Given the description of an element on the screen output the (x, y) to click on. 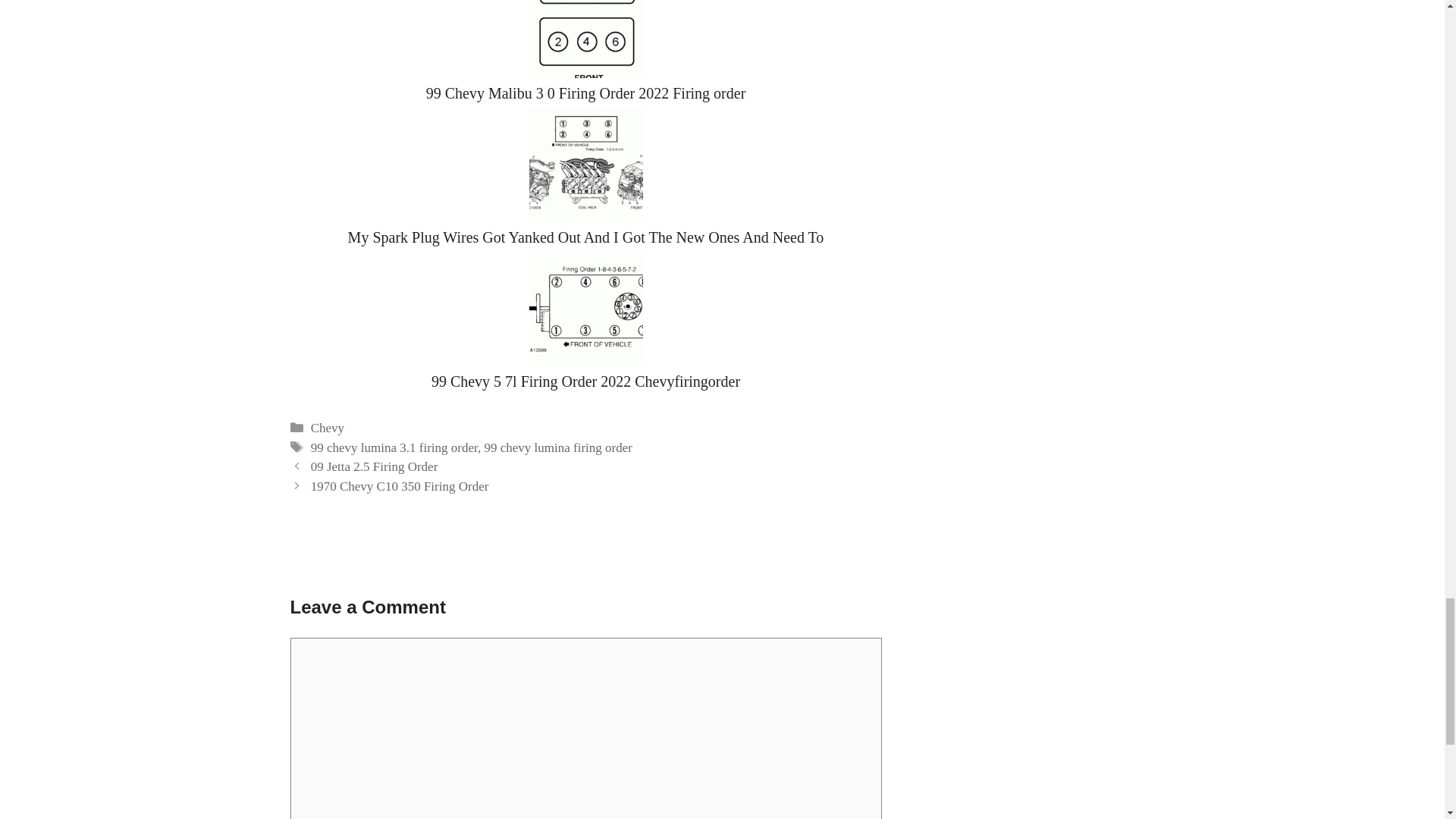
Next (400, 486)
99 chevy lumina firing order (557, 447)
99 chevy lumina 3.1 firing order (394, 447)
1970 Chevy C10 350 Firing Order (400, 486)
Chevy (327, 427)
Previous (374, 466)
09 Jetta 2.5 Firing Order (374, 466)
